Given the description of an element on the screen output the (x, y) to click on. 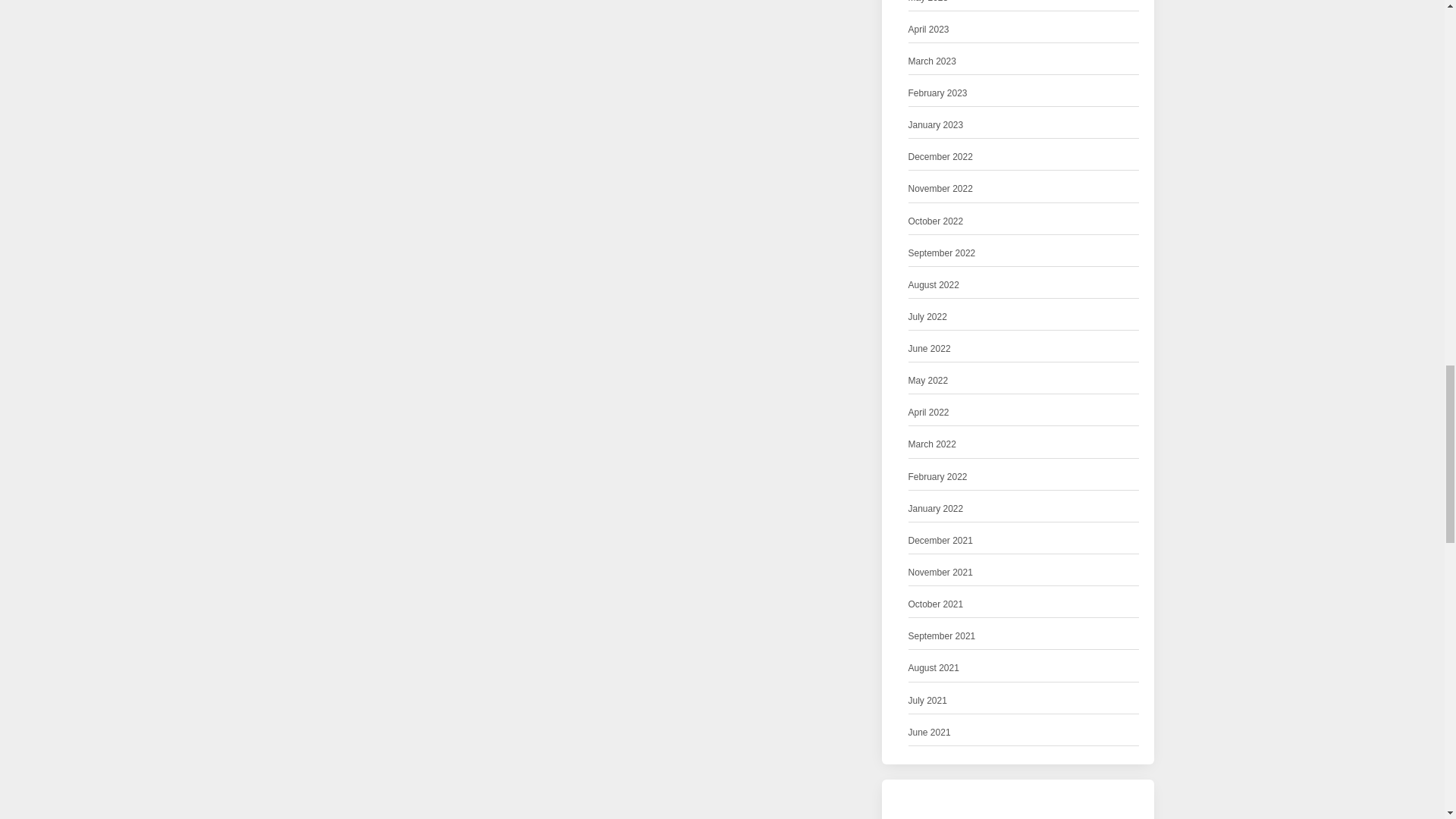
January 2023 (935, 125)
February 2023 (938, 93)
November 2022 (940, 188)
April 2023 (928, 29)
May 2023 (928, 2)
October 2022 (935, 221)
March 2023 (932, 61)
December 2022 (940, 157)
